Given the description of an element on the screen output the (x, y) to click on. 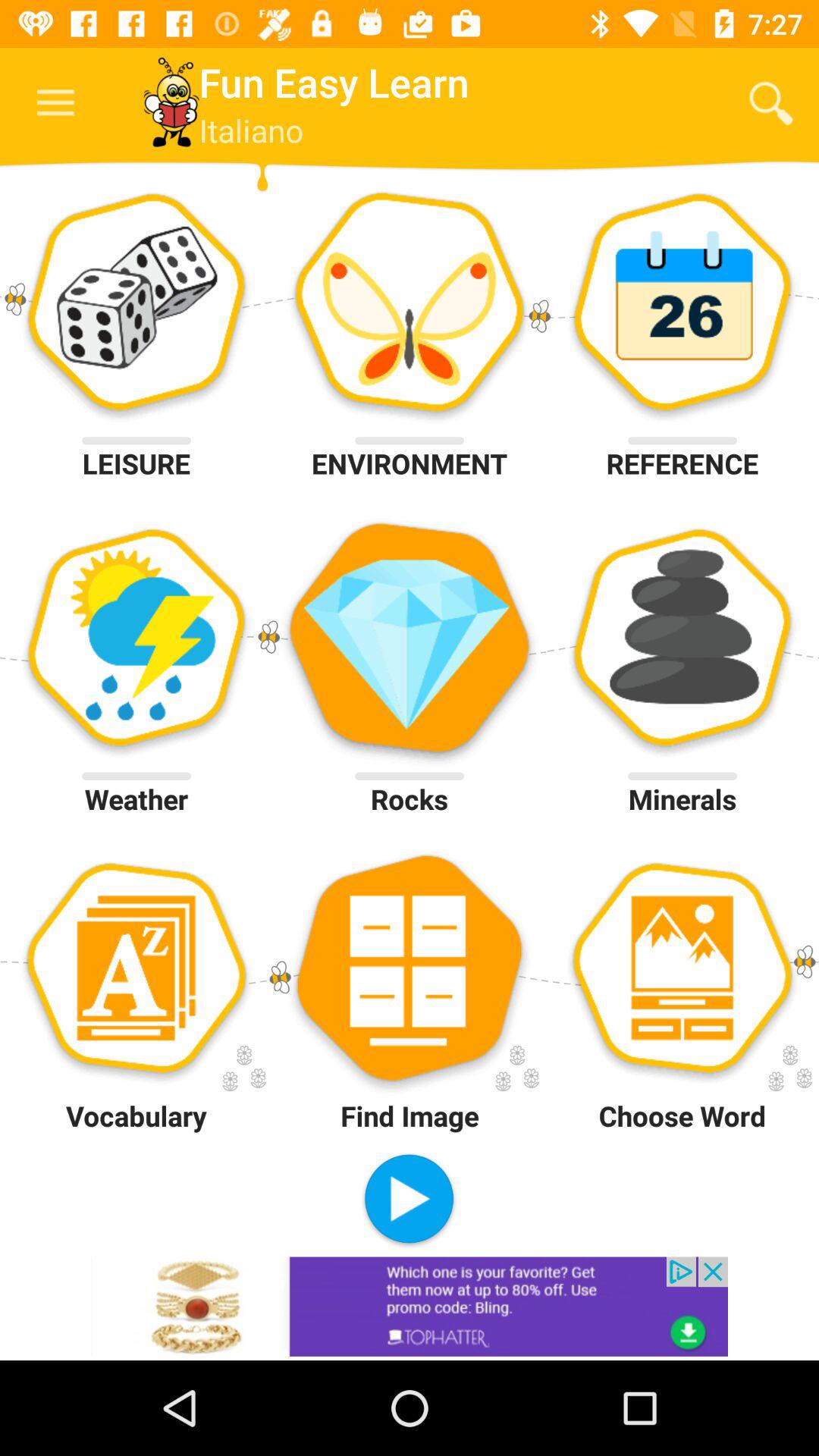
click the icon next to the choose word item (408, 1200)
